Given the description of an element on the screen output the (x, y) to click on. 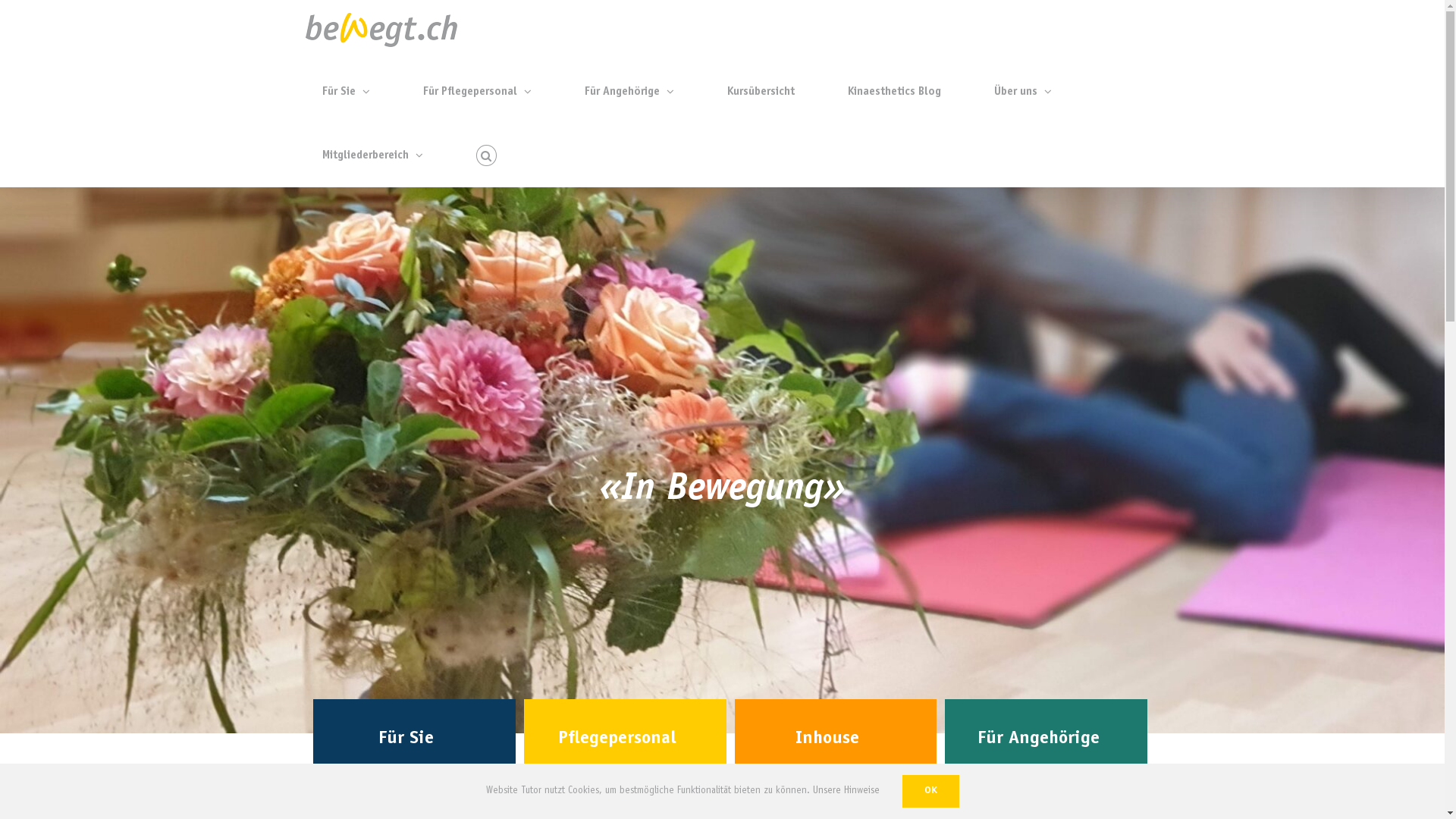
Mitgliederbereich Element type: text (371, 155)
Search Element type: hover (486, 155)
Unsere Hinweise Element type: text (845, 791)
OK Element type: text (930, 791)
Kinaesthetics Blog Element type: text (894, 91)
